Given the description of an element on the screen output the (x, y) to click on. 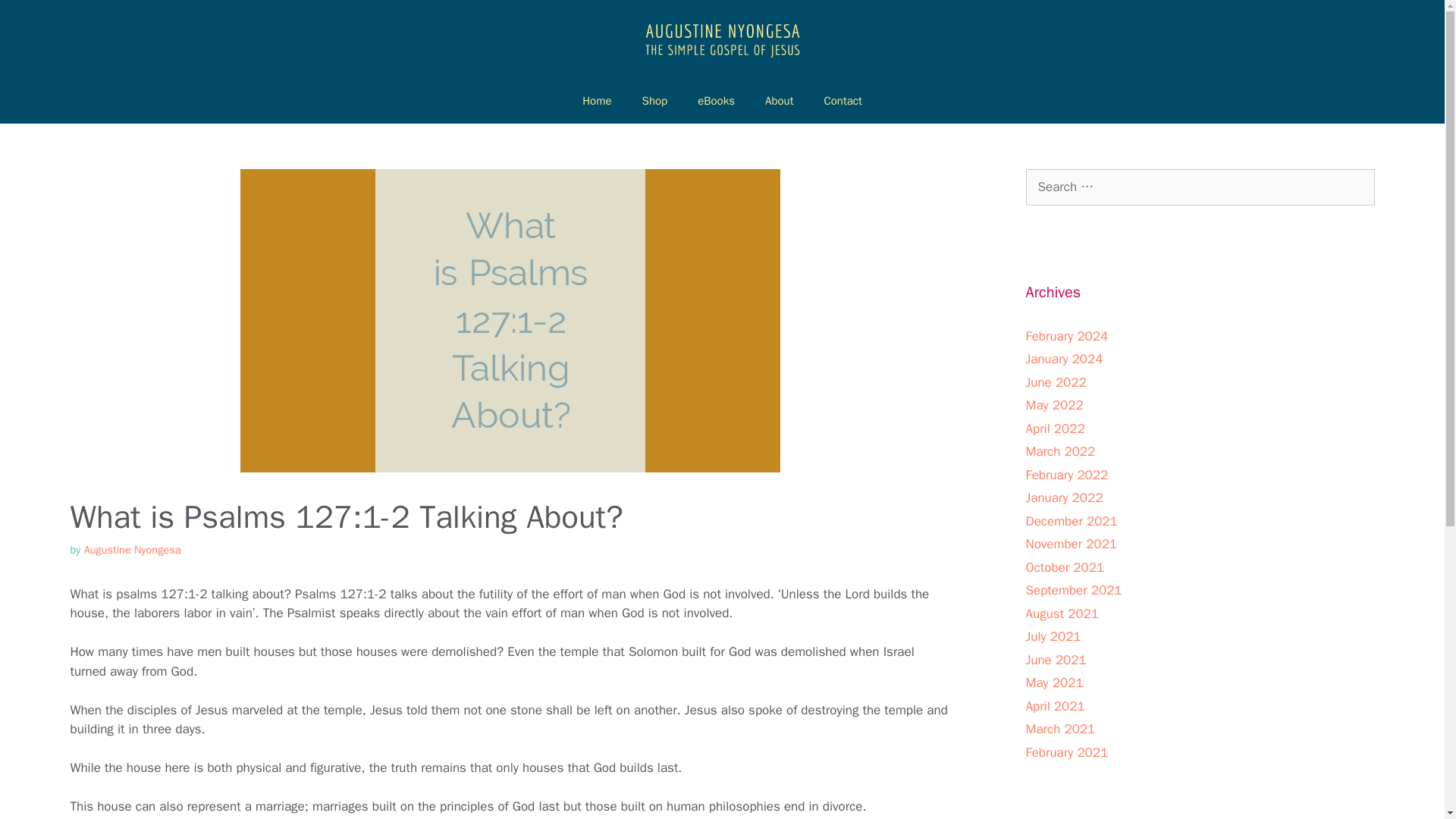
June 2021 (1055, 659)
October 2021 (1064, 567)
January 2024 (1063, 358)
Search for: (1199, 186)
February 2022 (1066, 474)
May 2022 (1054, 405)
February 2024 (1066, 335)
February 2021 (1066, 752)
About (778, 100)
Augustine Nyongesa (721, 37)
